Given the description of an element on the screen output the (x, y) to click on. 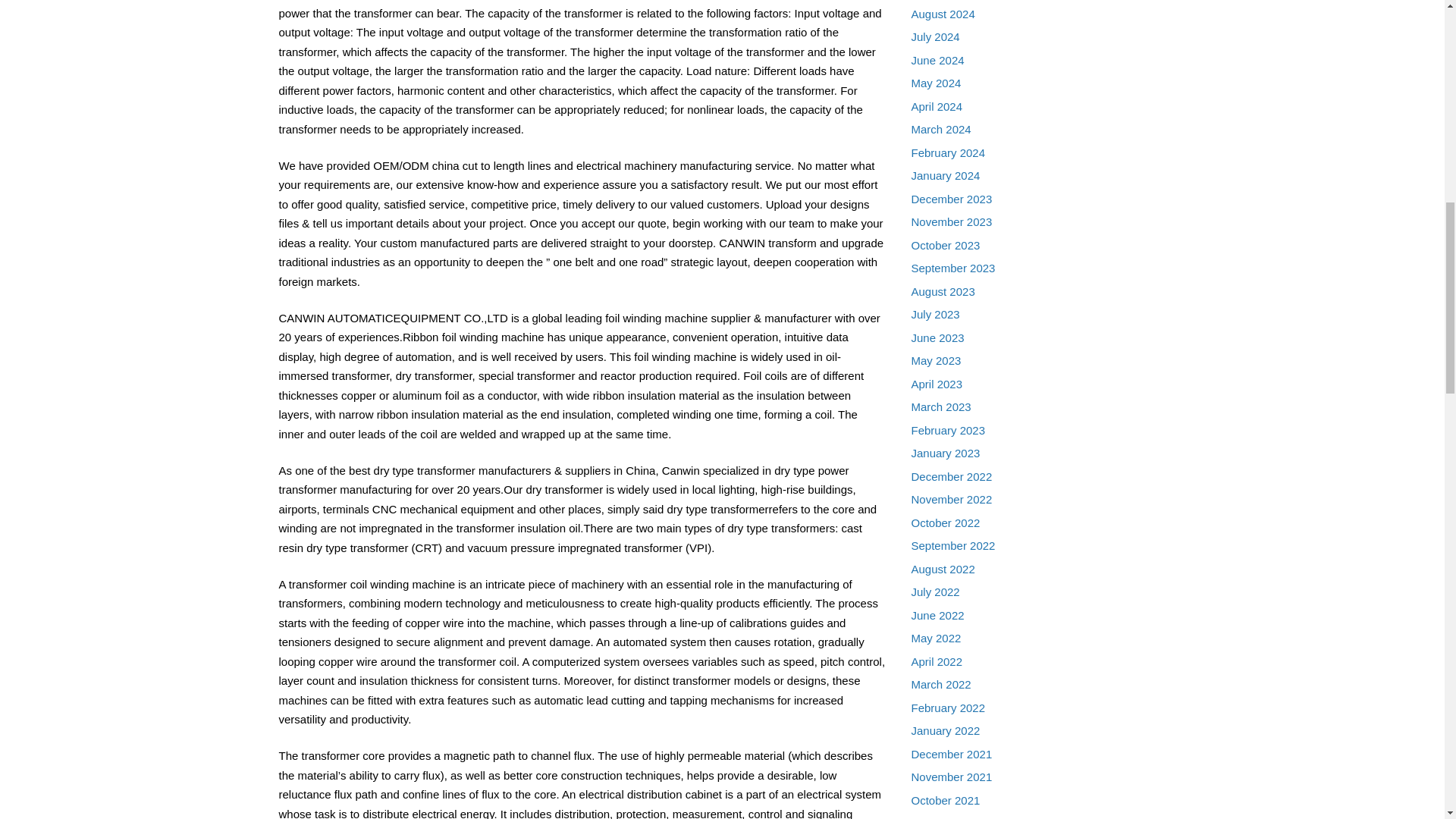
May 2023 (935, 359)
November 2022 (951, 499)
April 2023 (936, 383)
August 2024 (943, 13)
April 2024 (936, 106)
June 2024 (937, 60)
September 2022 (953, 545)
March 2023 (941, 406)
February 2024 (948, 152)
October 2023 (945, 245)
